Given the description of an element on the screen output the (x, y) to click on. 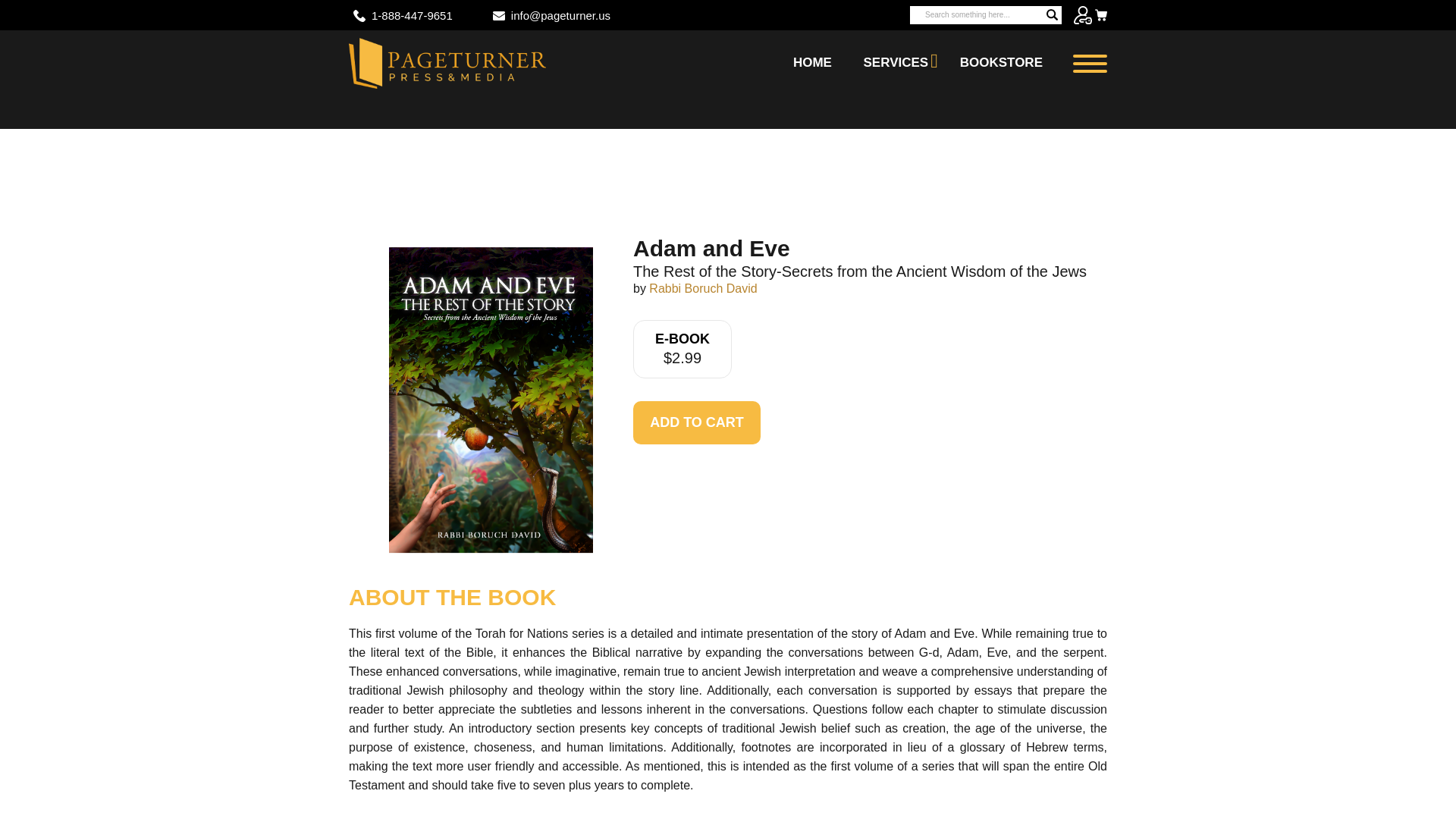
SERVICES (896, 62)
HOME (812, 62)
ADD TO CART (696, 422)
Login (1083, 14)
1-888-447-9651 (411, 15)
Rabbi Boruch David (703, 287)
BOOKSTORE (1001, 62)
